Given the description of an element on the screen output the (x, y) to click on. 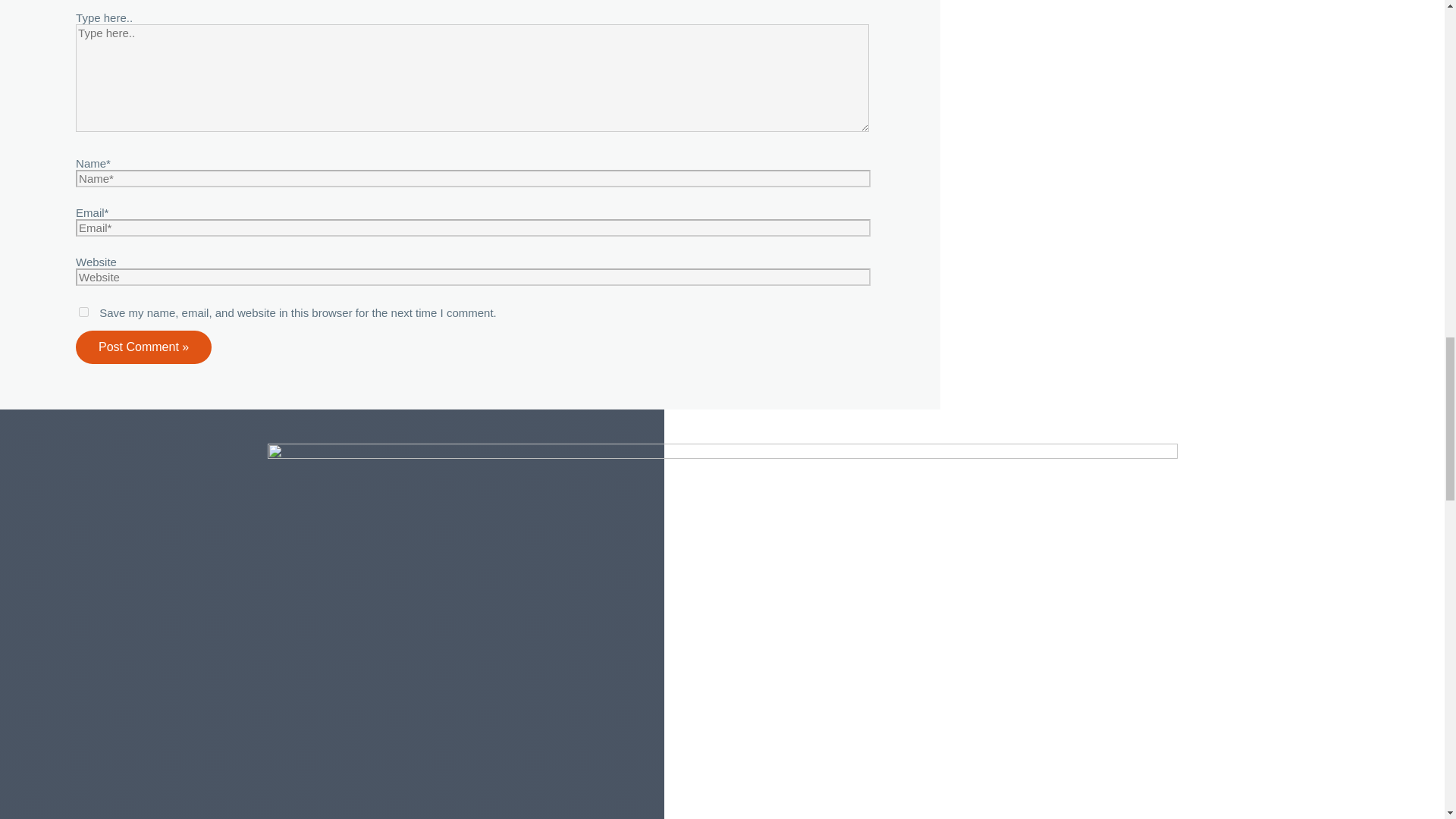
yes (83, 311)
